Given the description of an element on the screen output the (x, y) to click on. 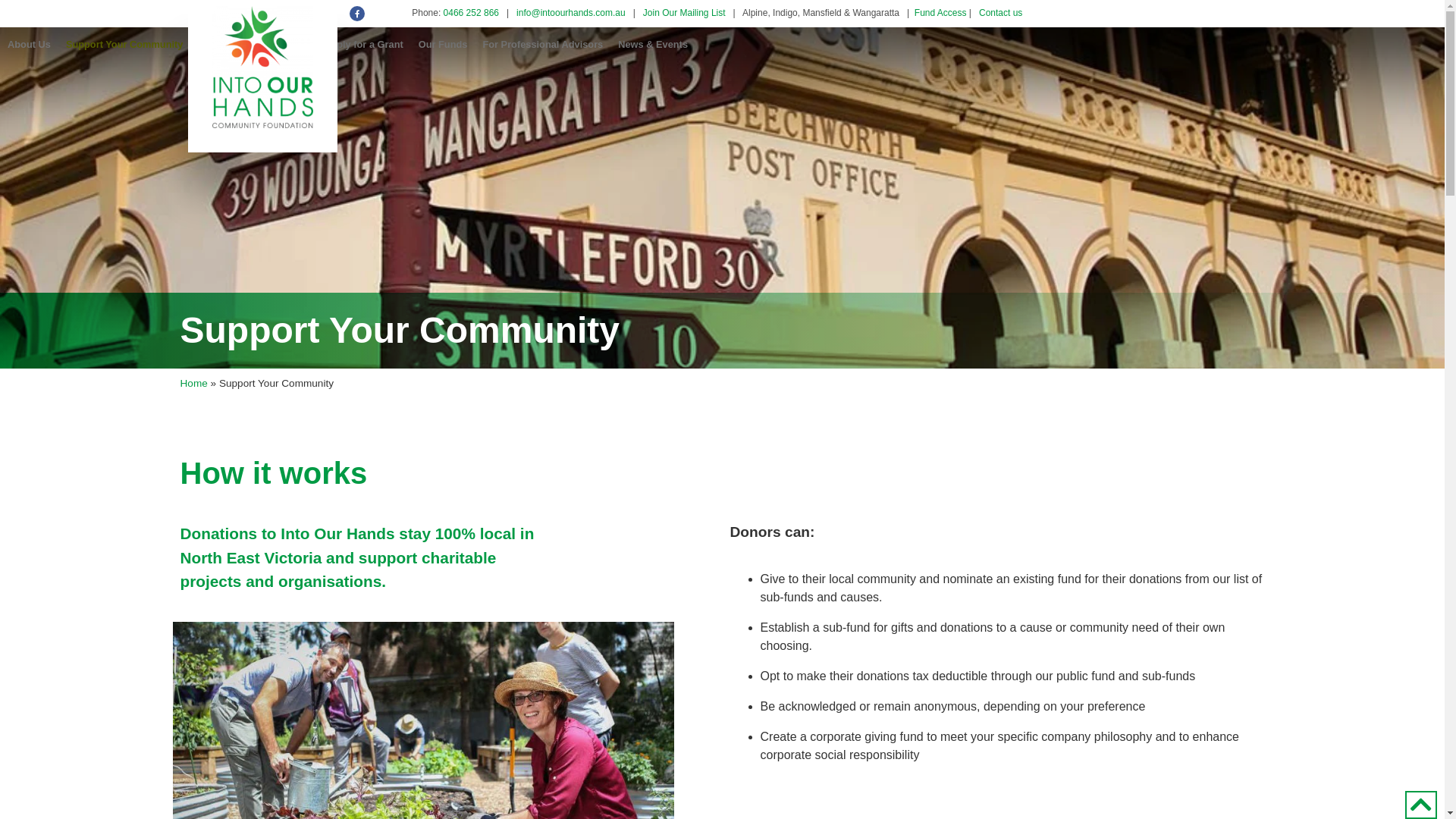
Support Your Community Element type: text (124, 44)
Apply for a Grant Element type: text (363, 44)
Join Our Mailing List Element type: text (684, 12)
For Professional Advisors Element type: text (542, 44)
0466 252 866 Element type: text (470, 12)
DONATE Element type: text (43, 147)
About Us Element type: text (29, 44)
Our Prosperity Realised Element type: text (253, 44)
Our Funds Element type: text (443, 44)
Fund Access Element type: text (940, 12)
News & Events Element type: text (652, 44)
info@intoourhands.com.au Element type: text (570, 12)
Contact us Element type: text (1000, 12)
Home Element type: text (193, 383)
